Given the description of an element on the screen output the (x, y) to click on. 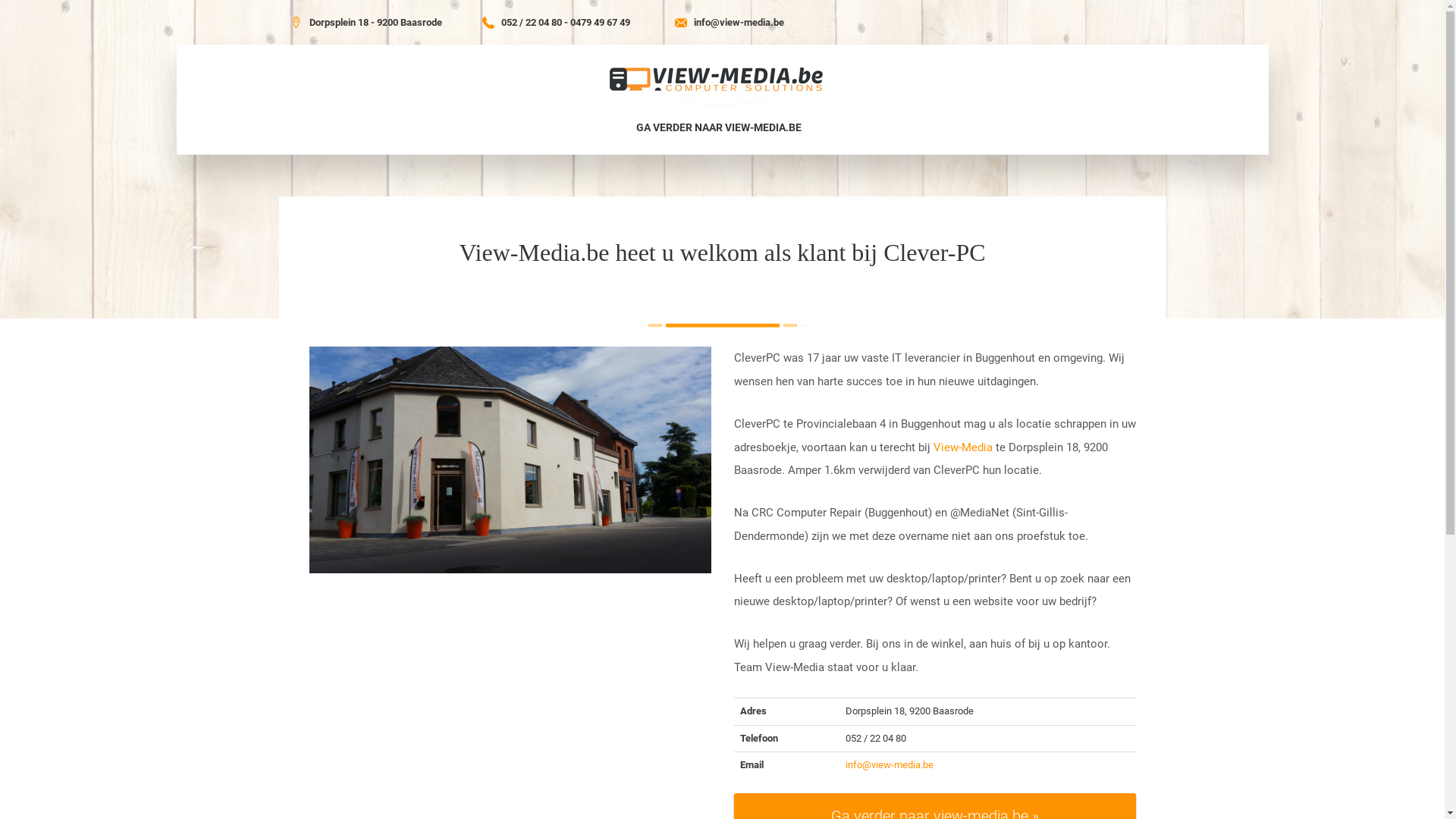
GA VERDER NAAR VIEW-MEDIA.BE Element type: text (717, 127)
info@view-media.be Element type: text (738, 22)
View-Media Element type: text (961, 447)
info@view-media.be Element type: text (889, 764)
